Given the description of an element on the screen output the (x, y) to click on. 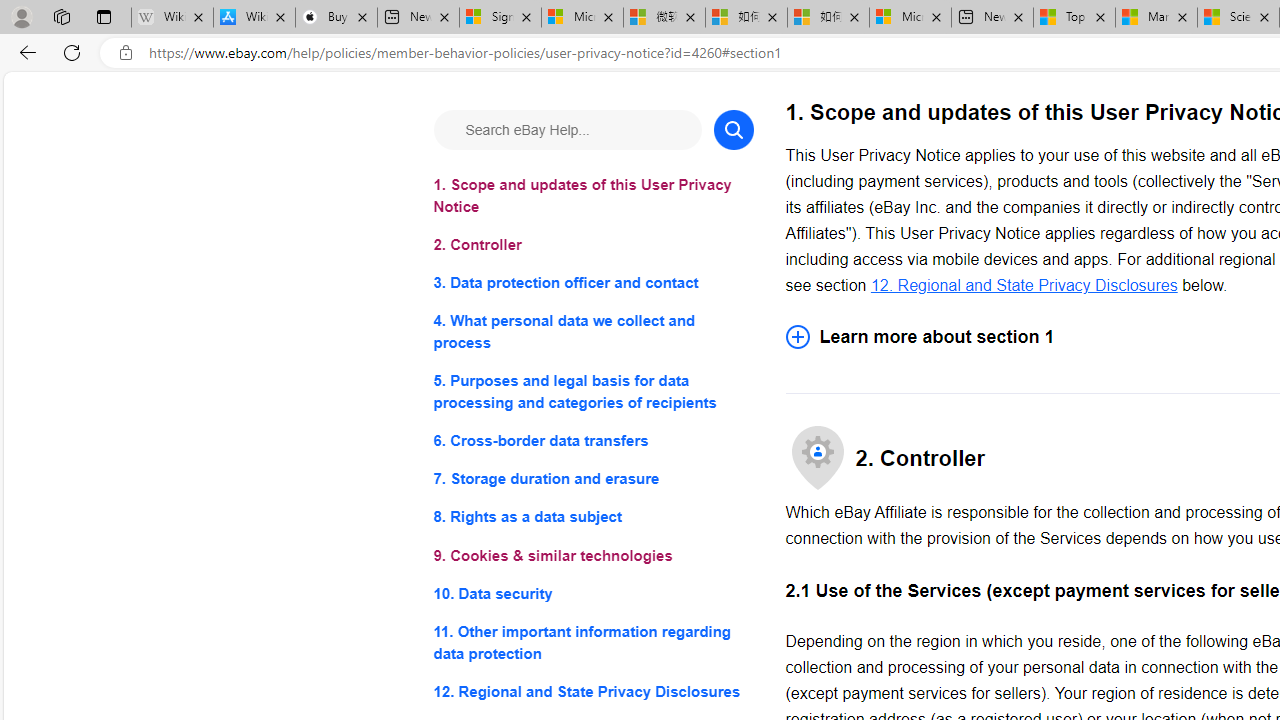
7. Storage duration and erasure (592, 479)
9. Cookies & similar technologies (592, 555)
2. Controller (592, 245)
1. Scope and updates of this User Privacy Notice (592, 196)
12. Regional and State Privacy Disclosures (1023, 284)
8. Rights as a data subject (592, 517)
1. Scope and updates of this User Privacy Notice (592, 196)
6. Cross-border data transfers (592, 440)
